Given the description of an element on the screen output the (x, y) to click on. 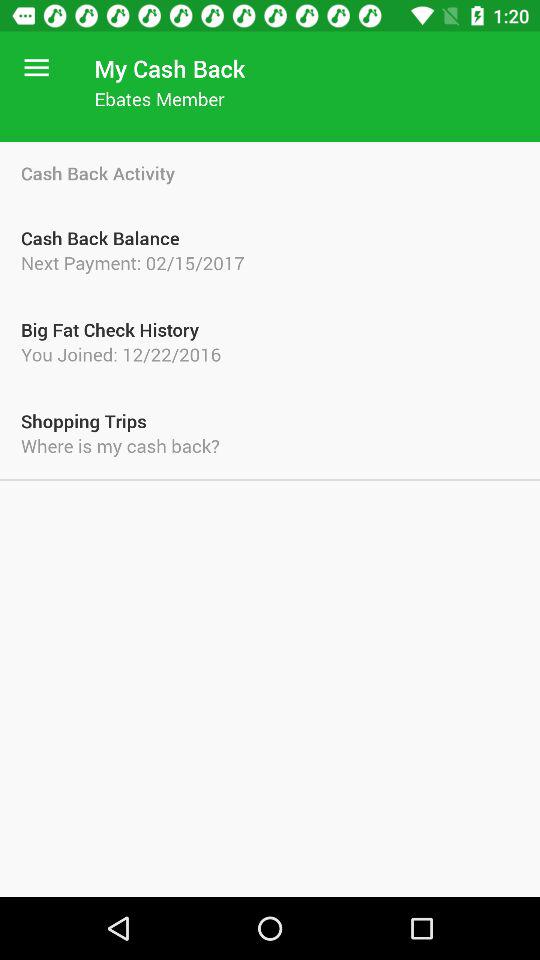
flip until big fat check (270, 329)
